Given the description of an element on the screen output the (x, y) to click on. 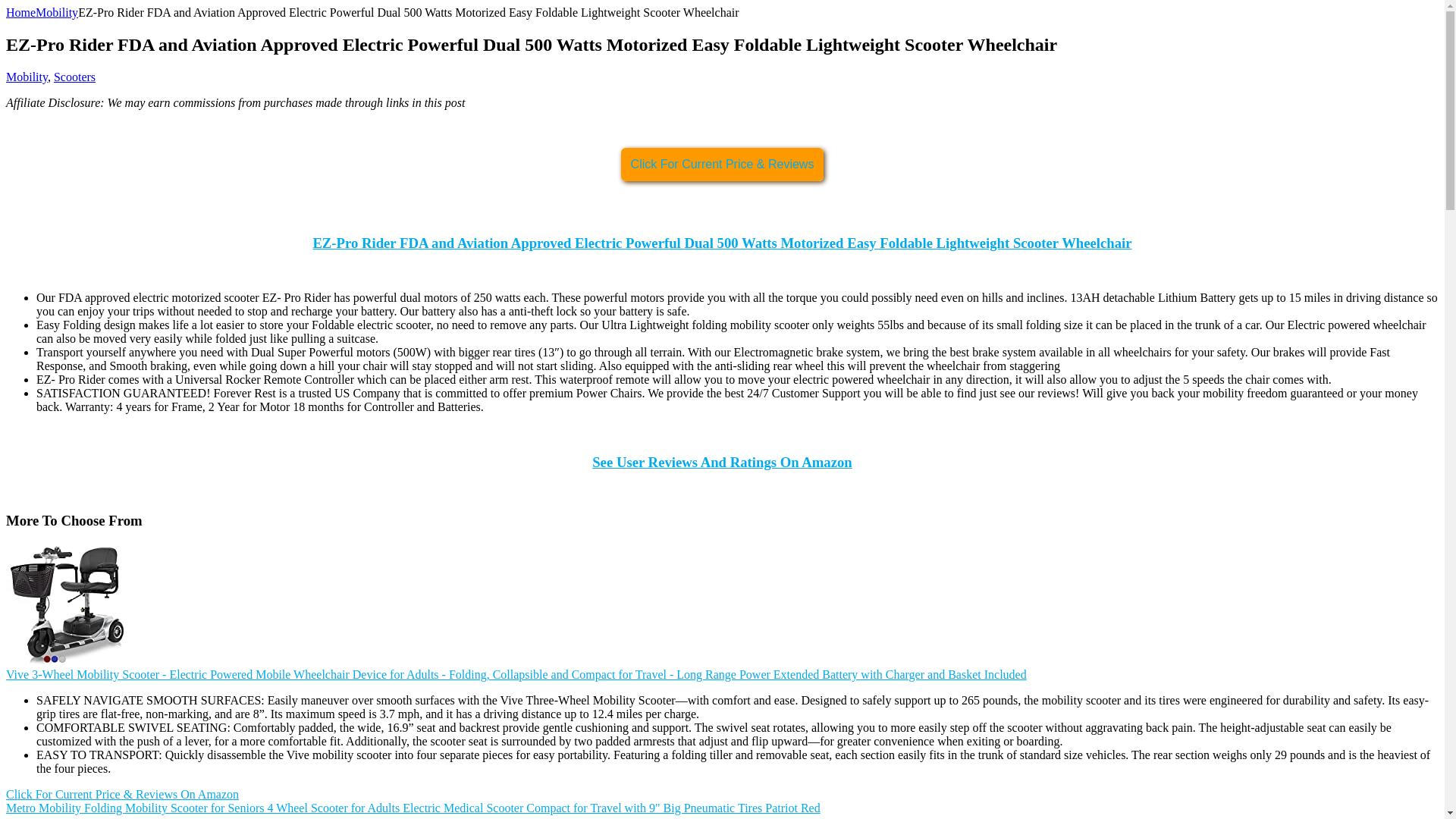
Home (19, 11)
See User Reviews And Ratings On Amazon (721, 462)
Mobility (26, 76)
Scooters (74, 76)
Mobility (56, 11)
